Given the description of an element on the screen output the (x, y) to click on. 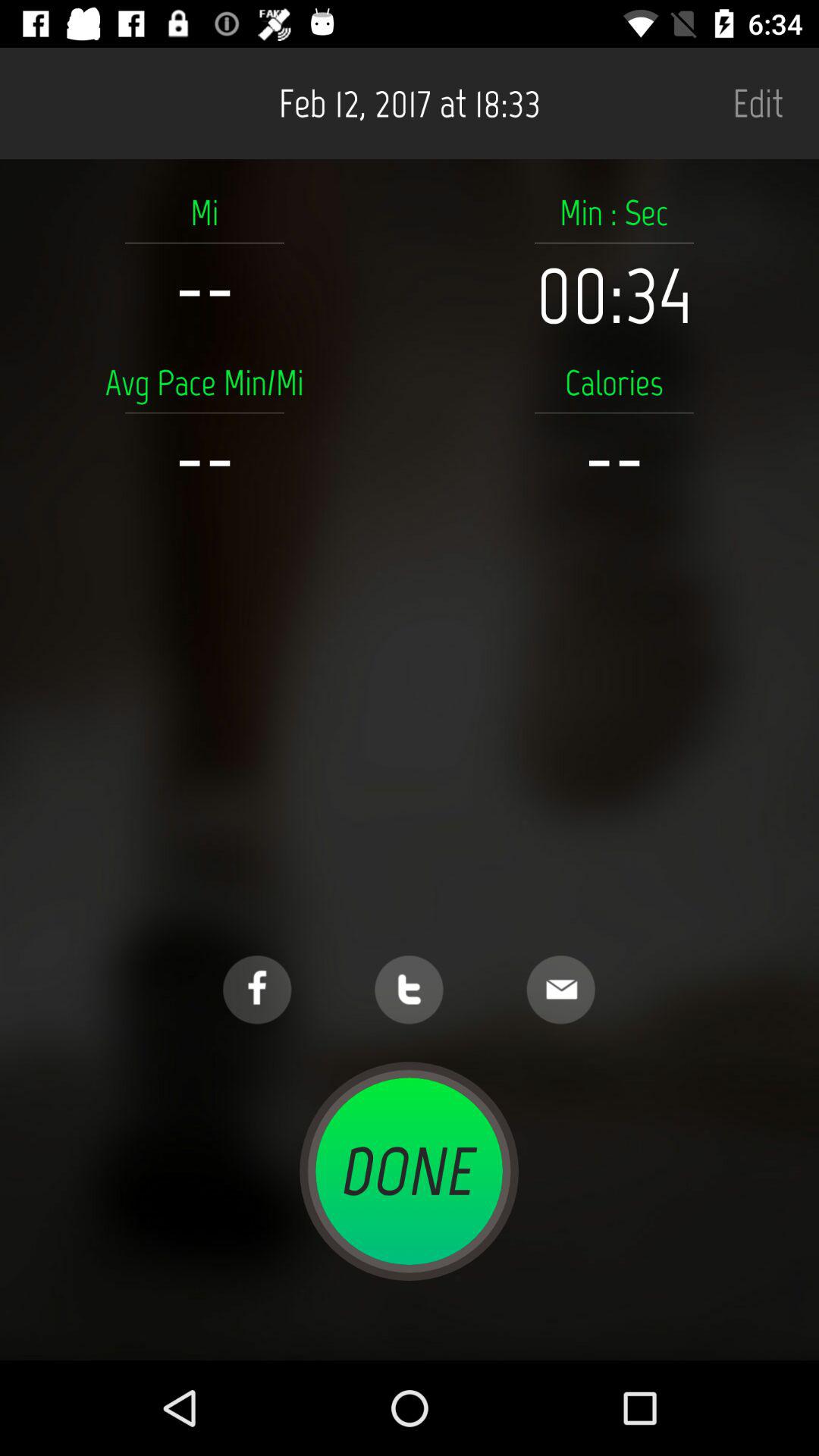
go to email (560, 989)
